Given the description of an element on the screen output the (x, y) to click on. 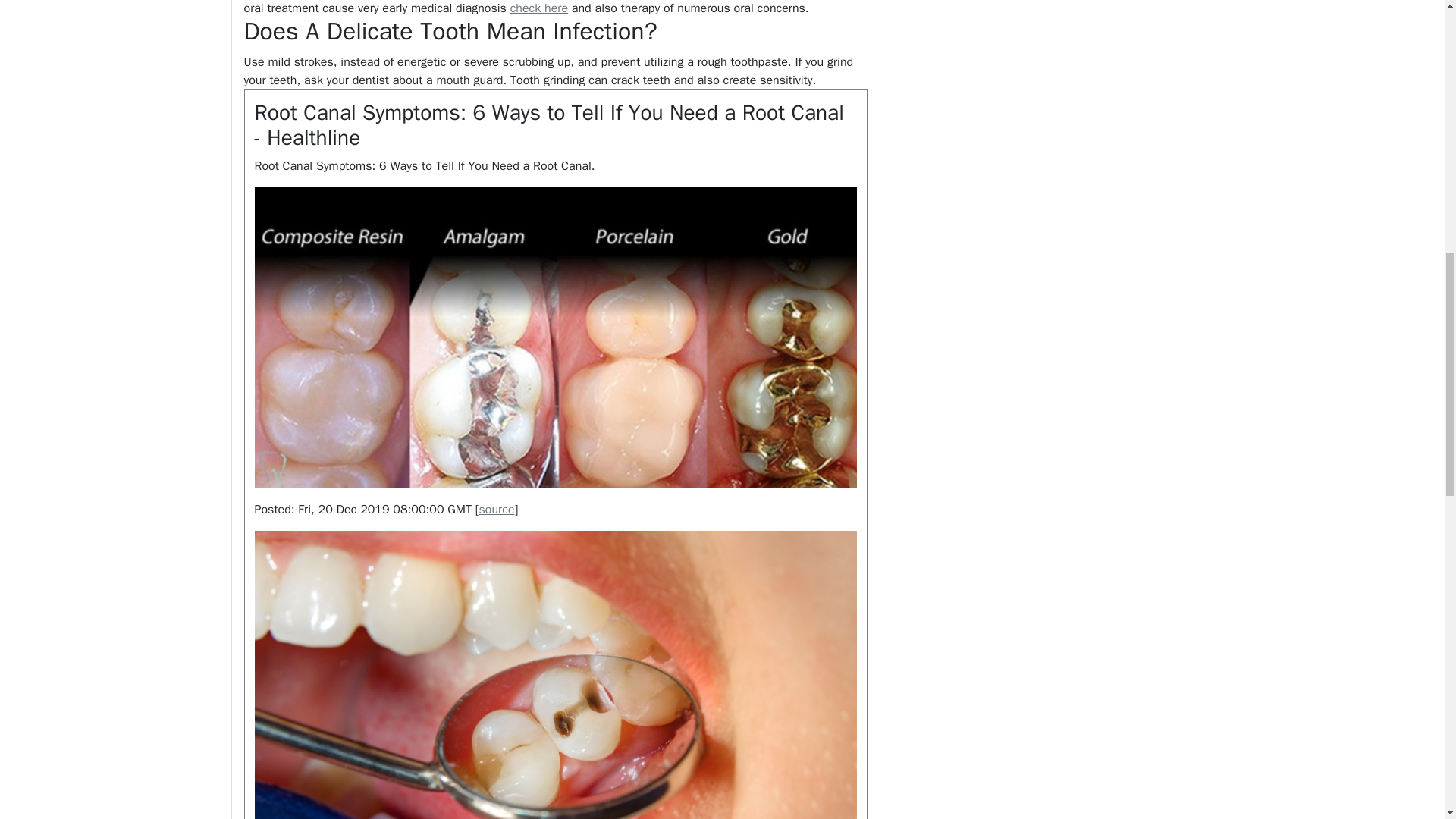
check here (539, 7)
source (497, 509)
